Given the description of an element on the screen output the (x, y) to click on. 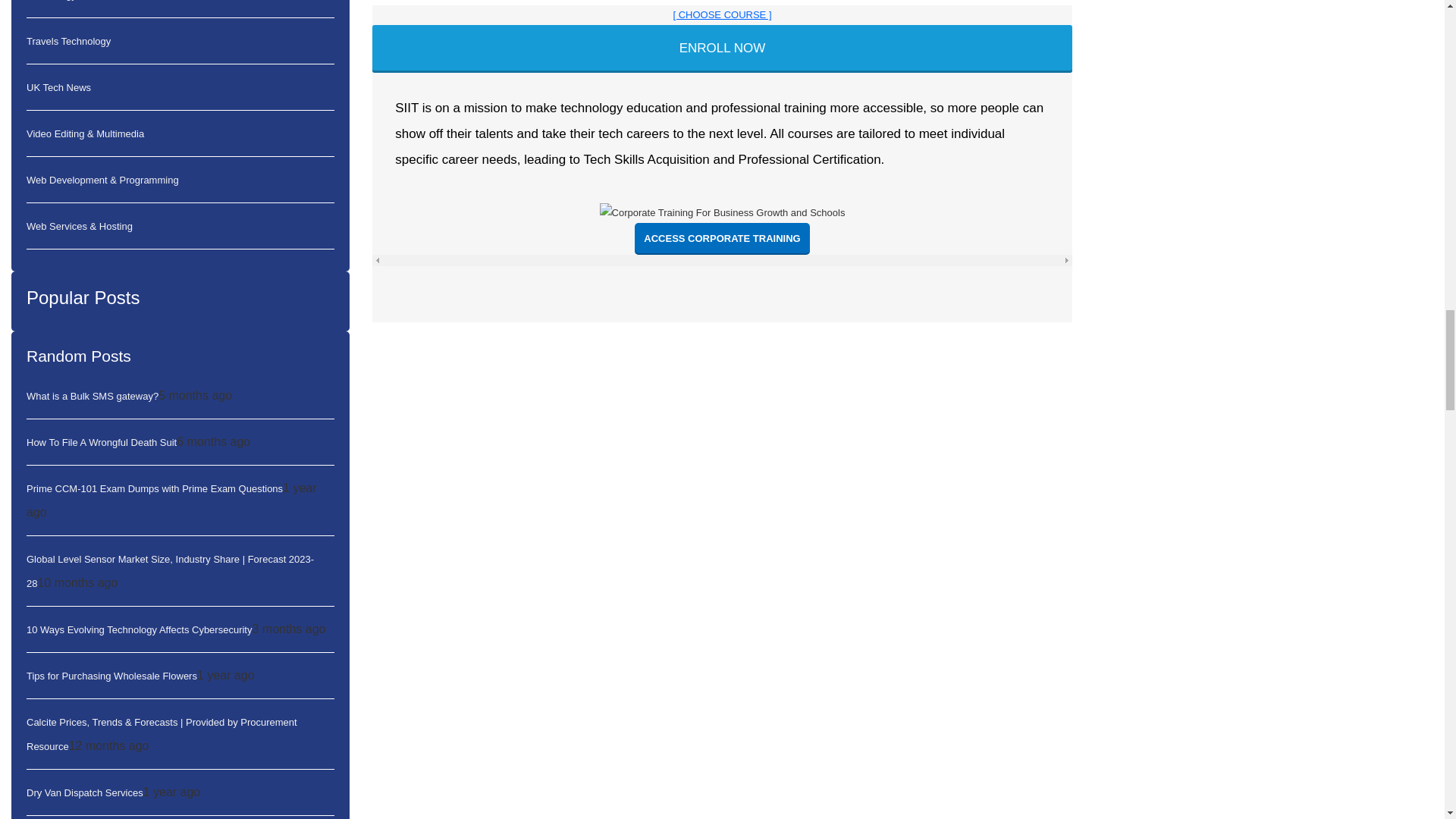
 ACCESS CORPORATE TRAINING  (721, 238)
